Given the description of an element on the screen output the (x, y) to click on. 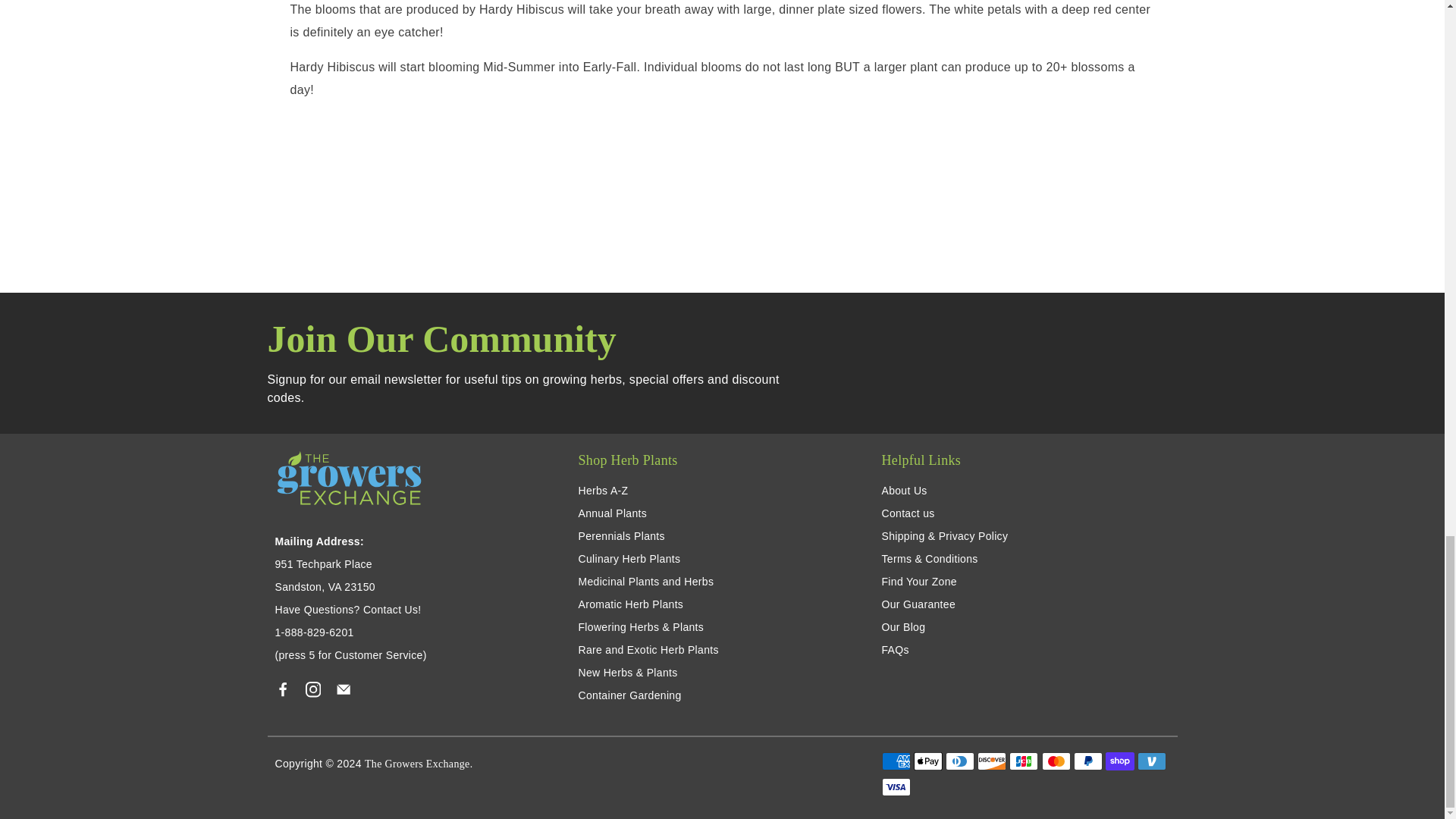
Apple Pay (928, 761)
Email The Growers Exchange (343, 693)
American Express (895, 761)
Contact us (392, 609)
The Growers Exchange on Facebook (282, 693)
tel:1-888-829-6201 (314, 632)
The Growers Exchange on Instagram (312, 693)
Shop Pay (1119, 761)
This plant's botanical or scientific name and synonyms. (719, 20)
Mastercard (1056, 761)
